Given the description of an element on the screen output the (x, y) to click on. 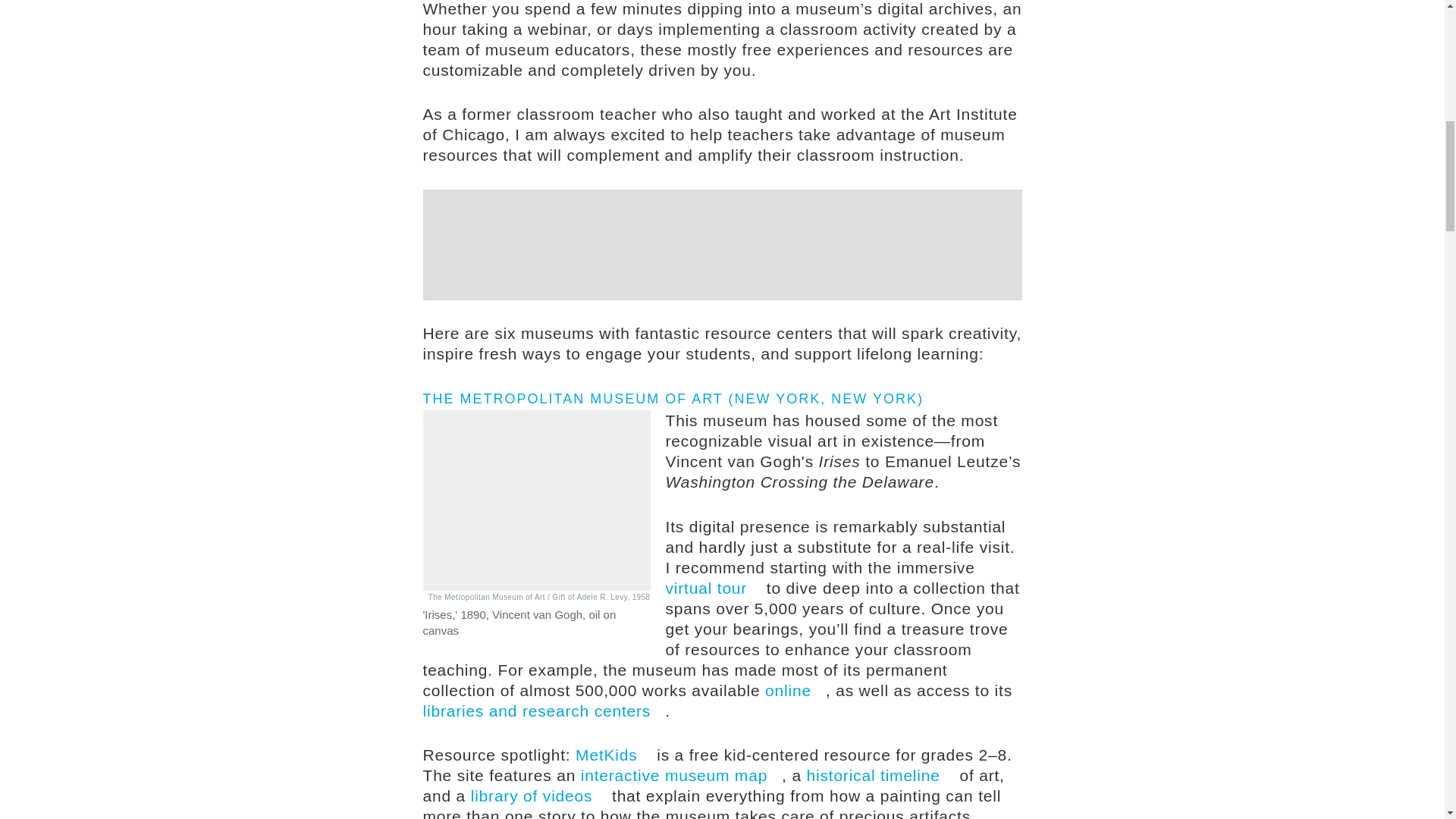
virtual tour (713, 588)
library of videos (538, 795)
MetKids (612, 754)
online (795, 690)
libraries and research centers (544, 710)
historical timeline (880, 774)
interactive museum map (680, 774)
